Given the description of an element on the screen output the (x, y) to click on. 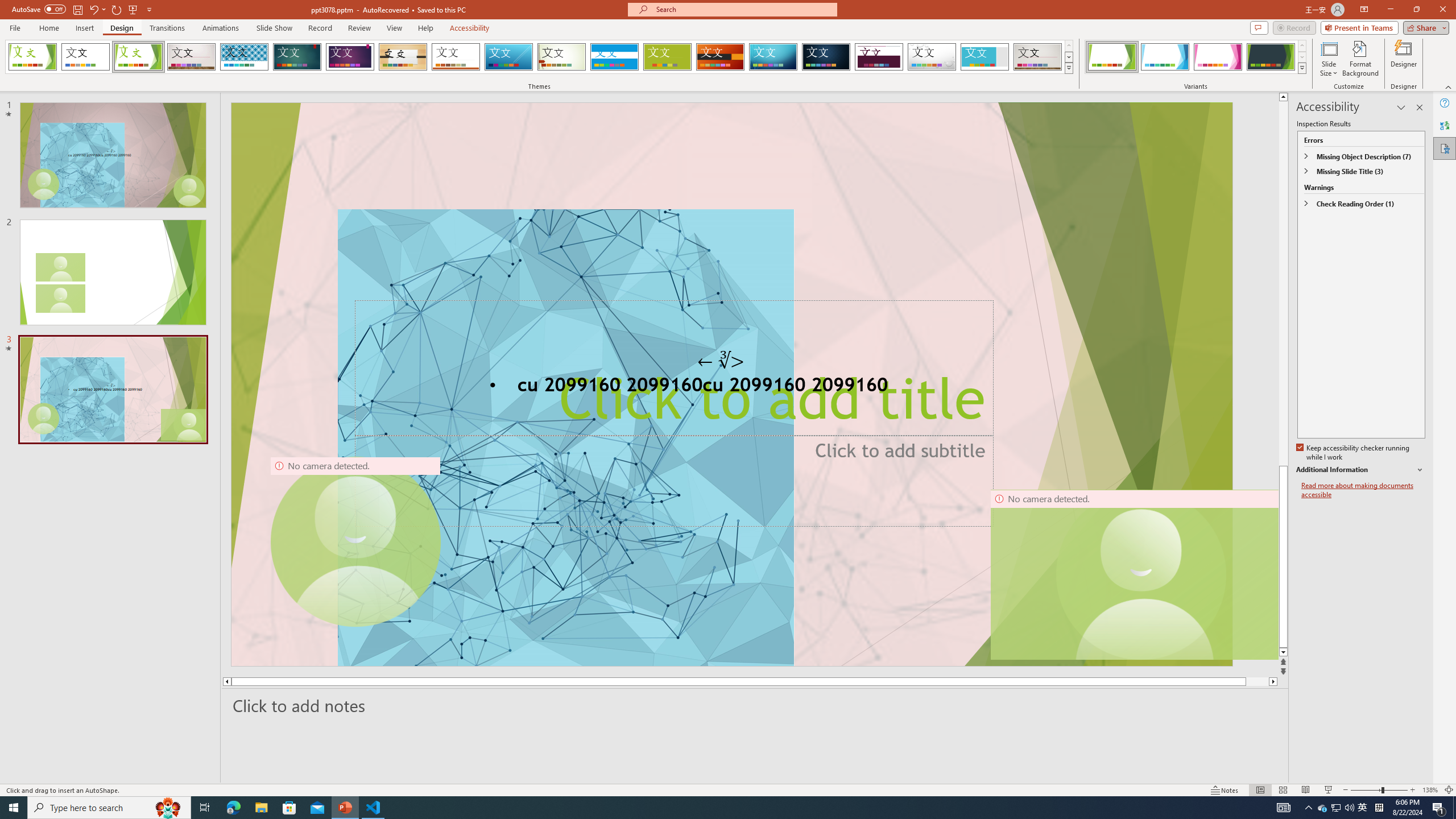
Ion Boardroom (350, 56)
Facet Variant 3 (1217, 56)
Gallery (1037, 56)
Circuit (772, 56)
TextBox 7 (720, 360)
An abstract genetic concept (731, 384)
